Given the description of an element on the screen output the (x, y) to click on. 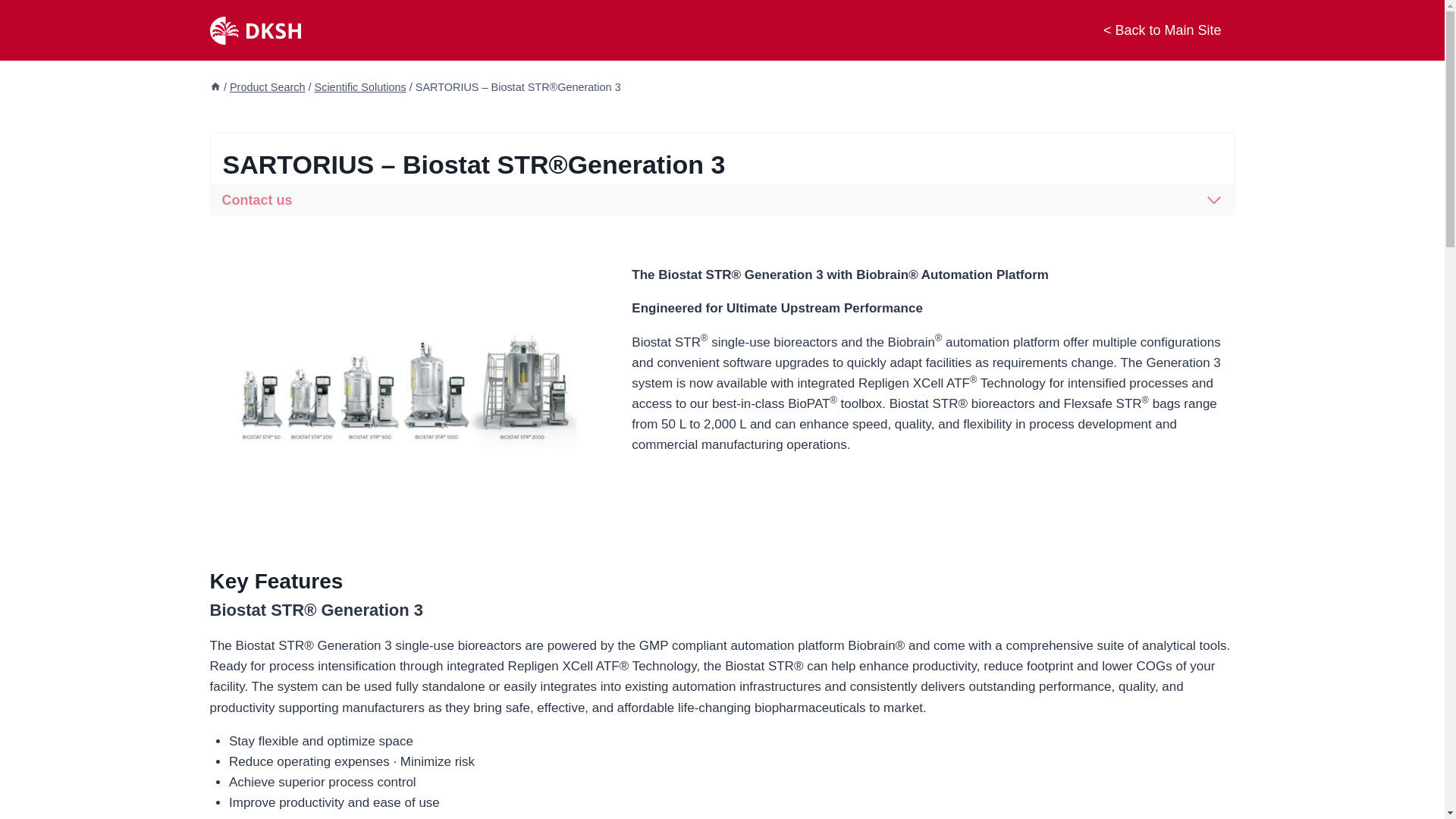
Product Search (267, 87)
Contact us (721, 200)
Scientific Solutions (360, 87)
